Given the description of an element on the screen output the (x, y) to click on. 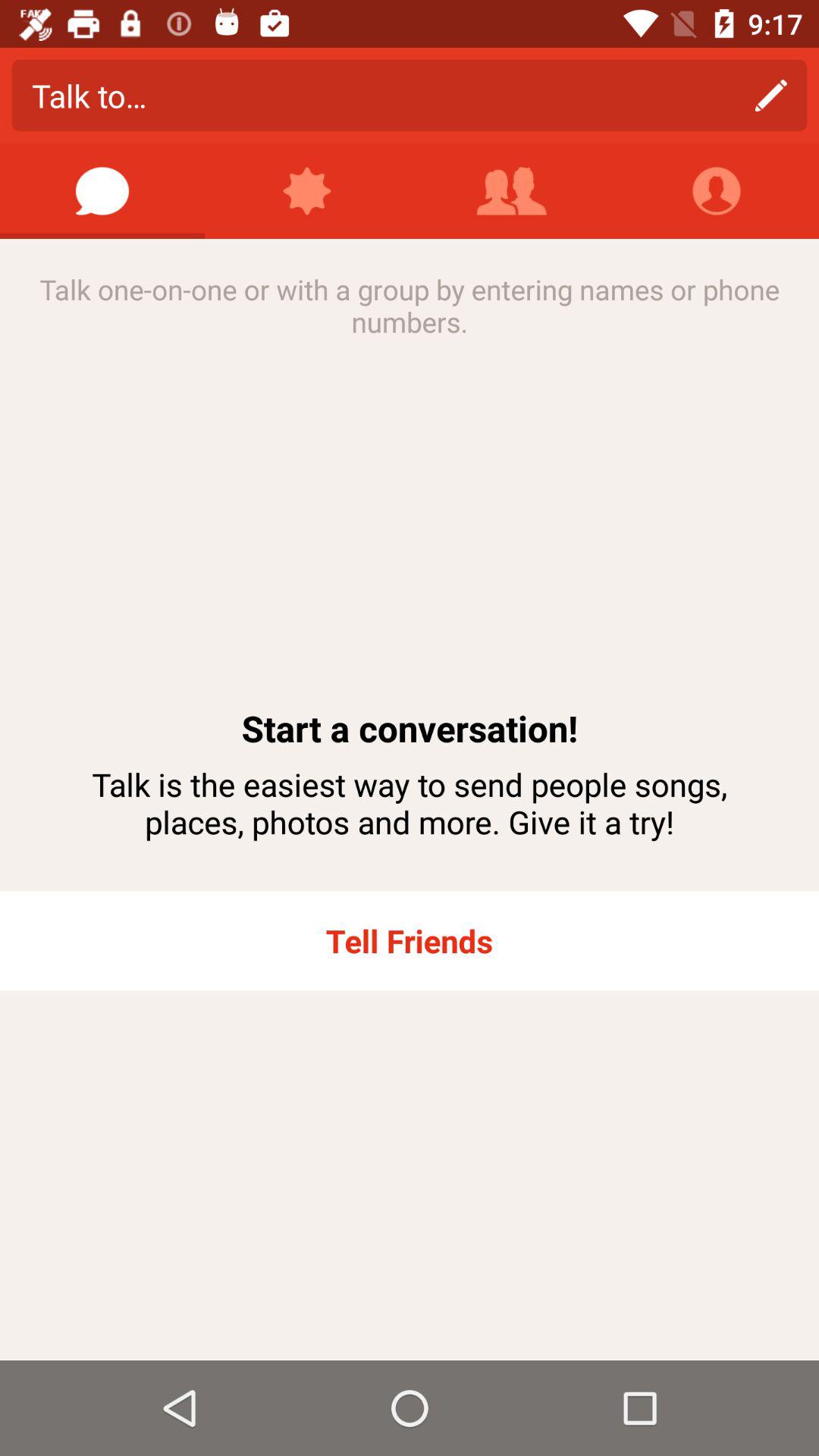
add contact (511, 190)
